Given the description of an element on the screen output the (x, y) to click on. 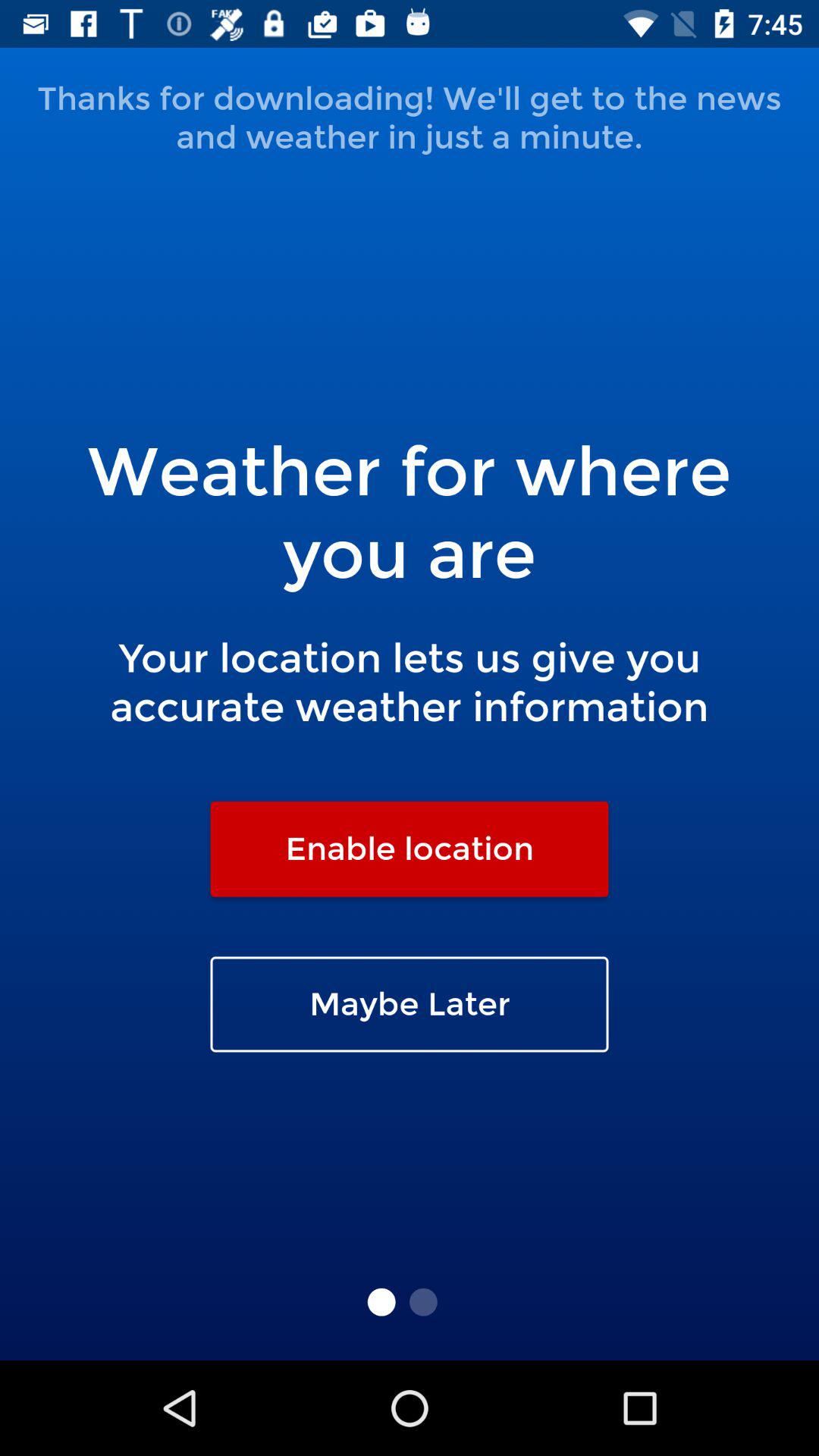
tap maybe later item (409, 1004)
